Given the description of an element on the screen output the (x, y) to click on. 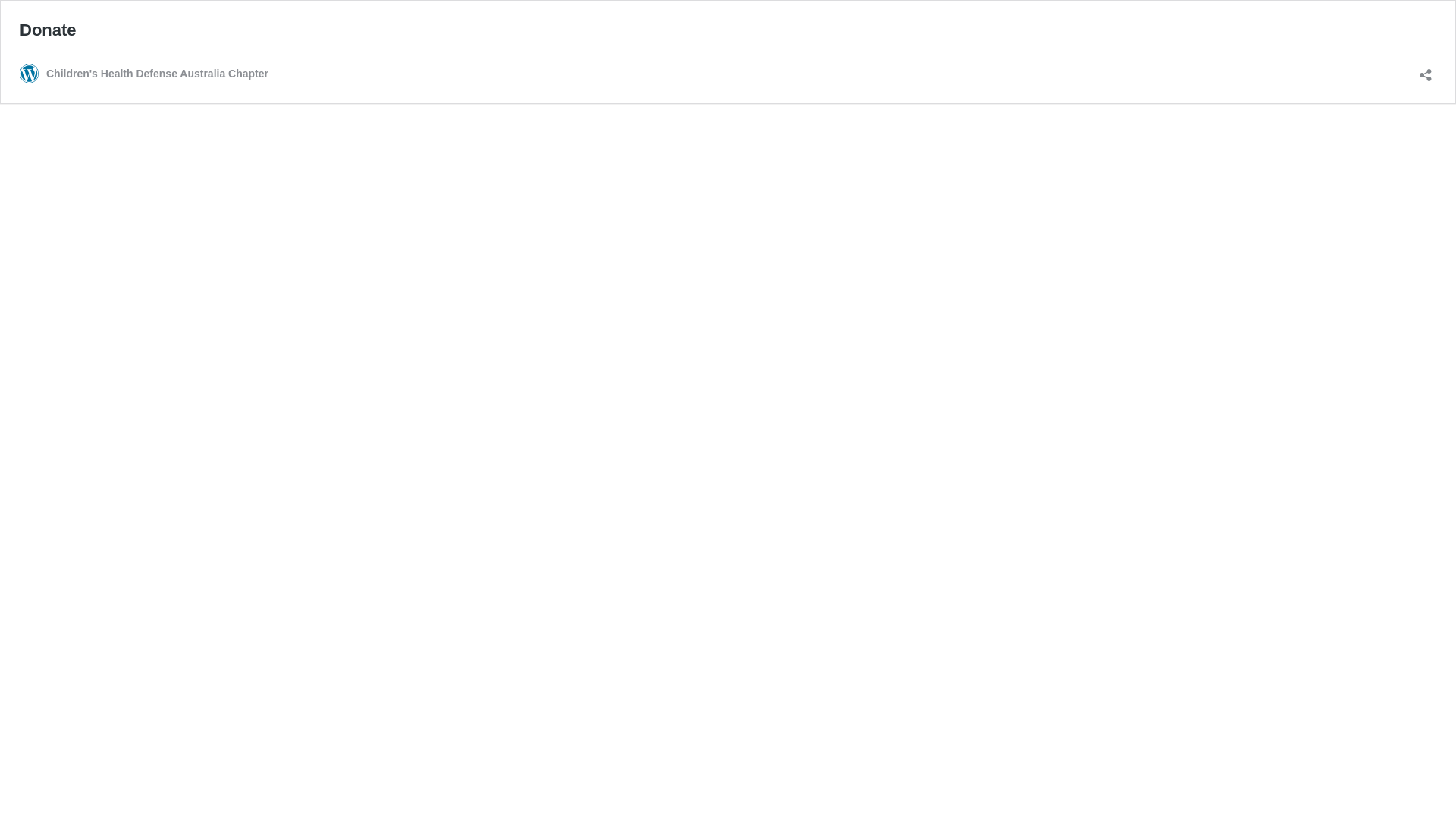
Donate Element type: text (47, 29)
Children's Health Defense Australia Chapter Element type: text (143, 73)
